Given the description of an element on the screen output the (x, y) to click on. 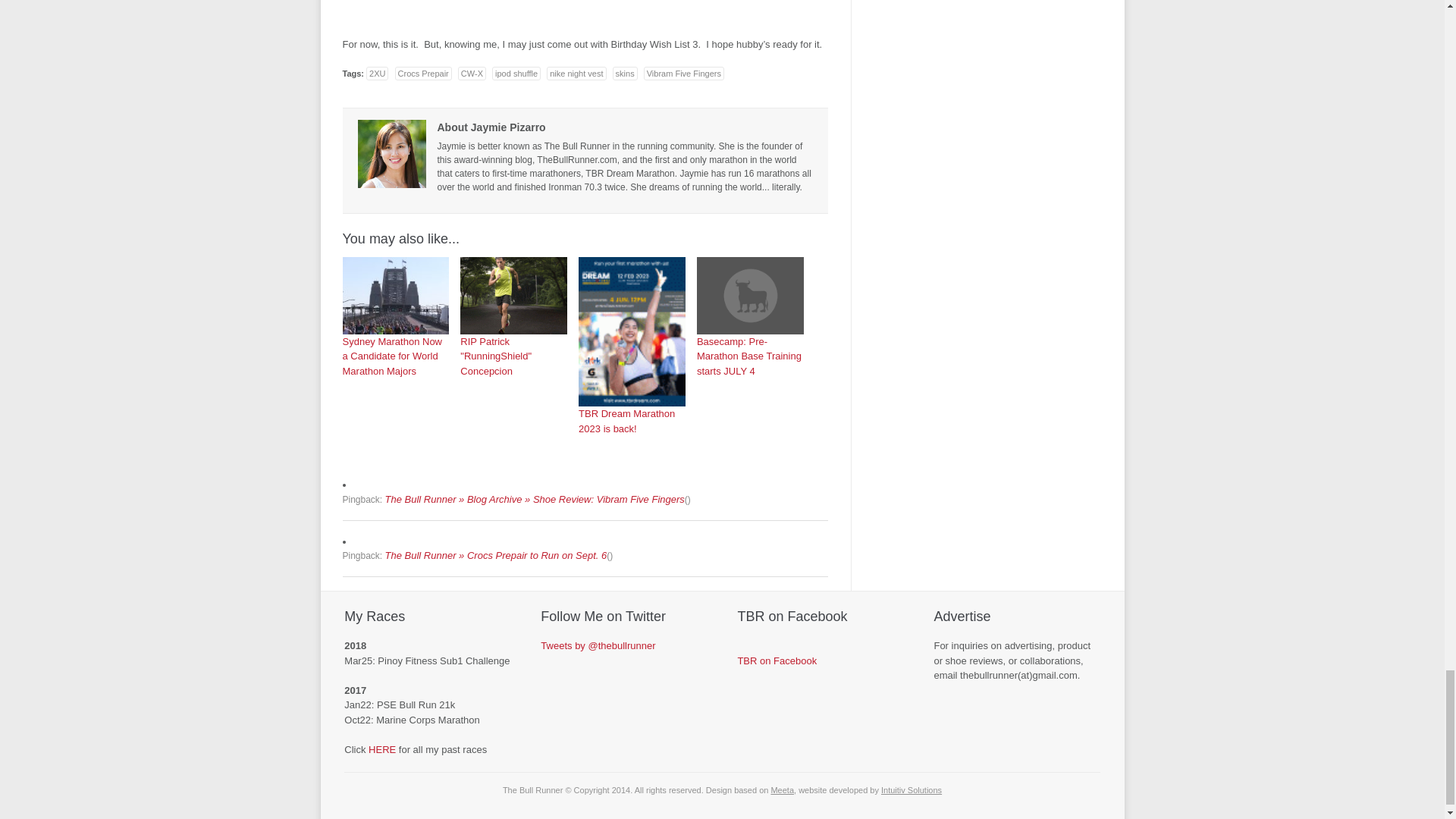
Vibram Five Fingers (683, 73)
Crocs Prepair (422, 73)
RIP Patrick "RunningShield" Concepcion (513, 295)
Sydney Marathon Now a Candidate for World Marathon Majors (395, 316)
Basecamp: Pre-Marathon Base Training starts JULY 4 (750, 316)
CW-X (472, 73)
skins (624, 73)
ipod shuffle (516, 73)
nike night vest (576, 73)
Nikevest by JPizarro2008, on Flickr (585, 11)
RIP Patrick "RunningShield" Concepcion (513, 316)
Sydney Marathon Now a Candidate for World Marathon Majors (395, 295)
2XU (377, 73)
Basecamp: Pre-Marathon Base Training starts JULY 4 (750, 295)
